Given the description of an element on the screen output the (x, y) to click on. 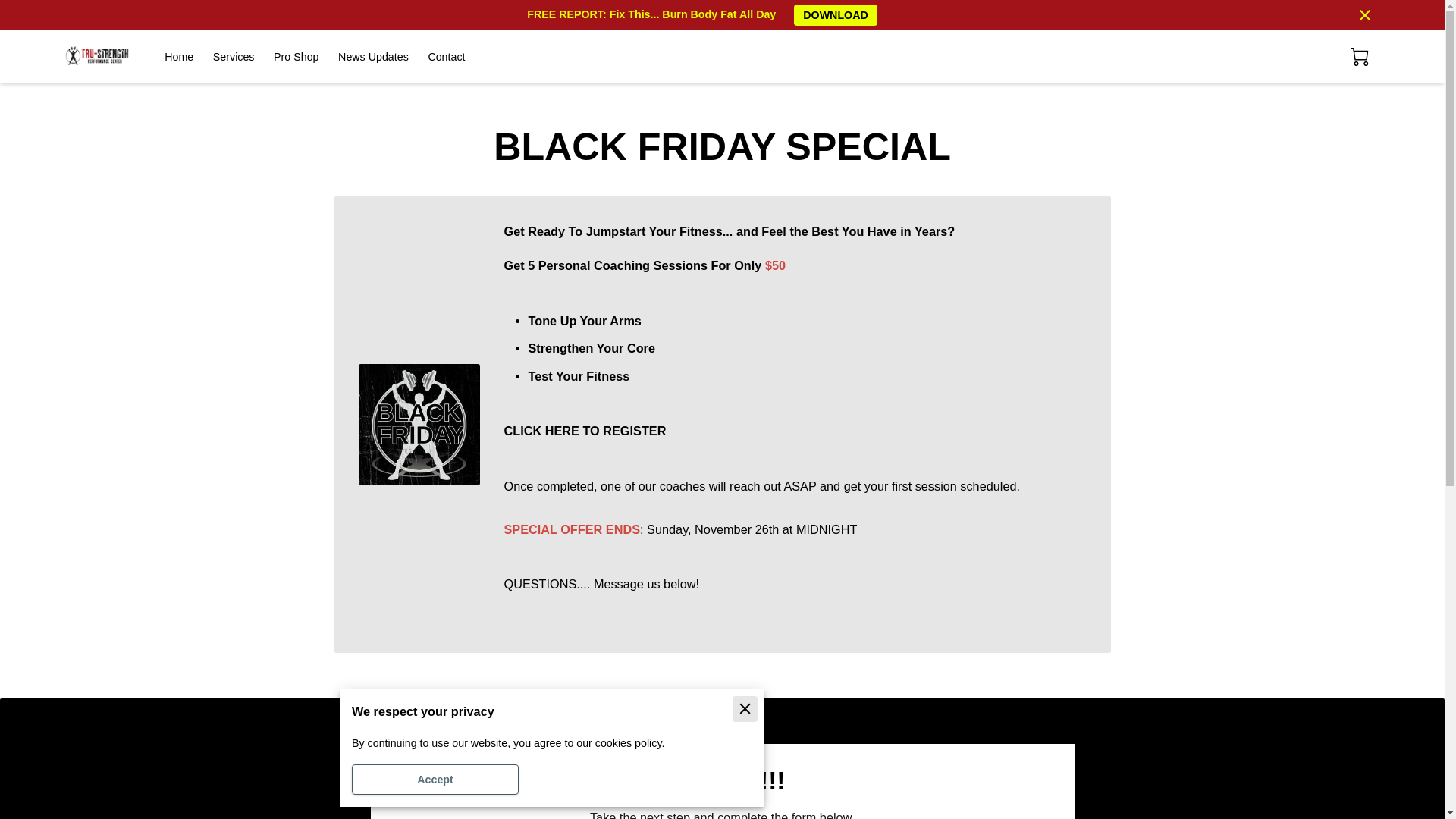
Services (233, 56)
Contact (446, 56)
TO (590, 430)
Accept (435, 779)
Home (178, 56)
REGISTER (633, 430)
Pro Shop (295, 56)
0 (1359, 56)
News Updates (373, 56)
DOWNLOAD (835, 14)
CLICK HERE (540, 430)
